Given the description of an element on the screen output the (x, y) to click on. 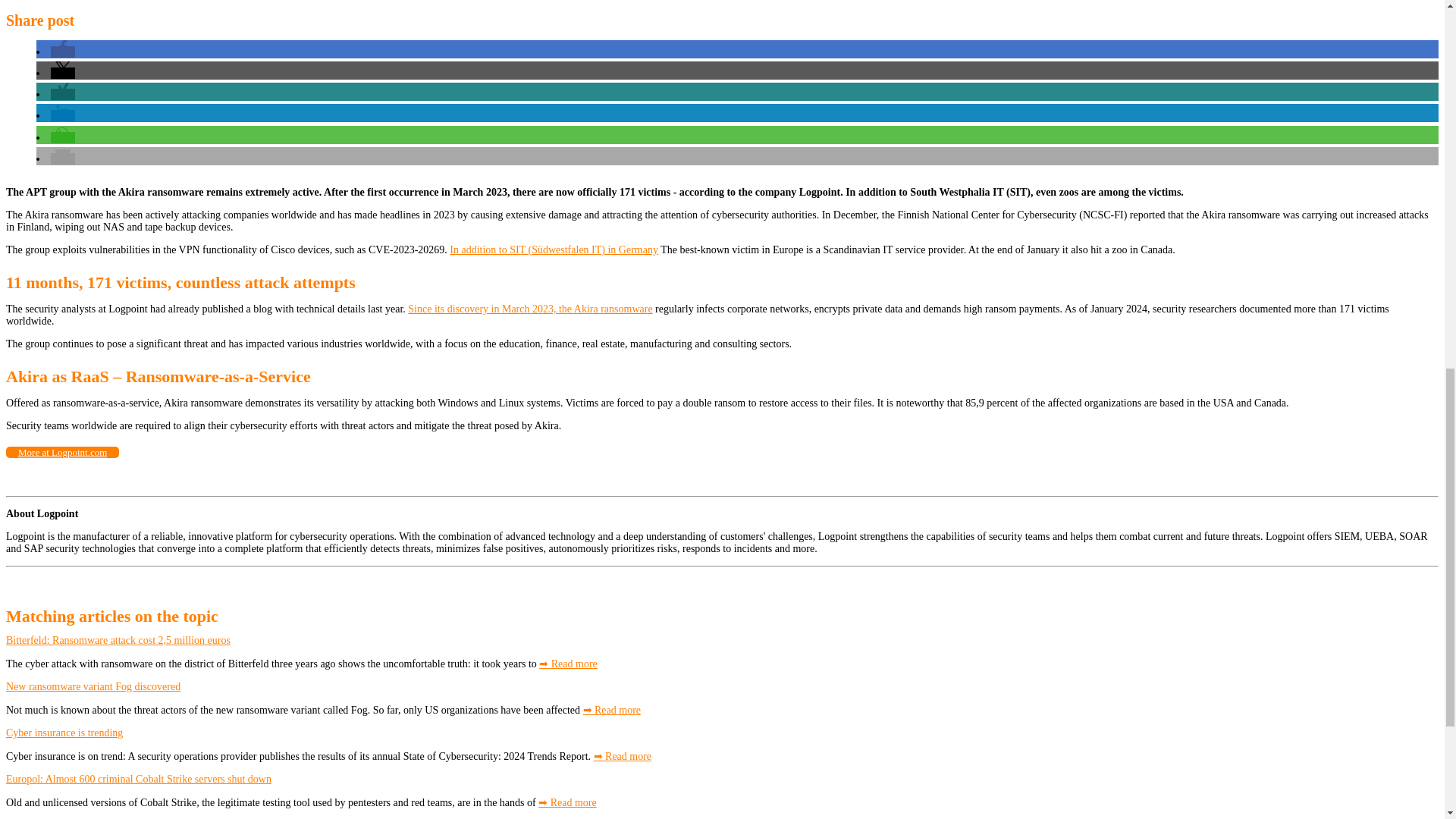
Share on LinkedIn (62, 115)
Send by e-mail (62, 158)
New ransomware variant Fog discovered (92, 686)
Share at X (62, 72)
Share with XING (62, 93)
Bitterfeld: Ransomware attack cost 2,5 million euros (117, 640)
Share with Whatsapp (62, 137)
Europol: Almost 600 criminal Cobalt Strike servers shut down (137, 778)
Share on Facebook (62, 51)
